Given the description of an element on the screen output the (x, y) to click on. 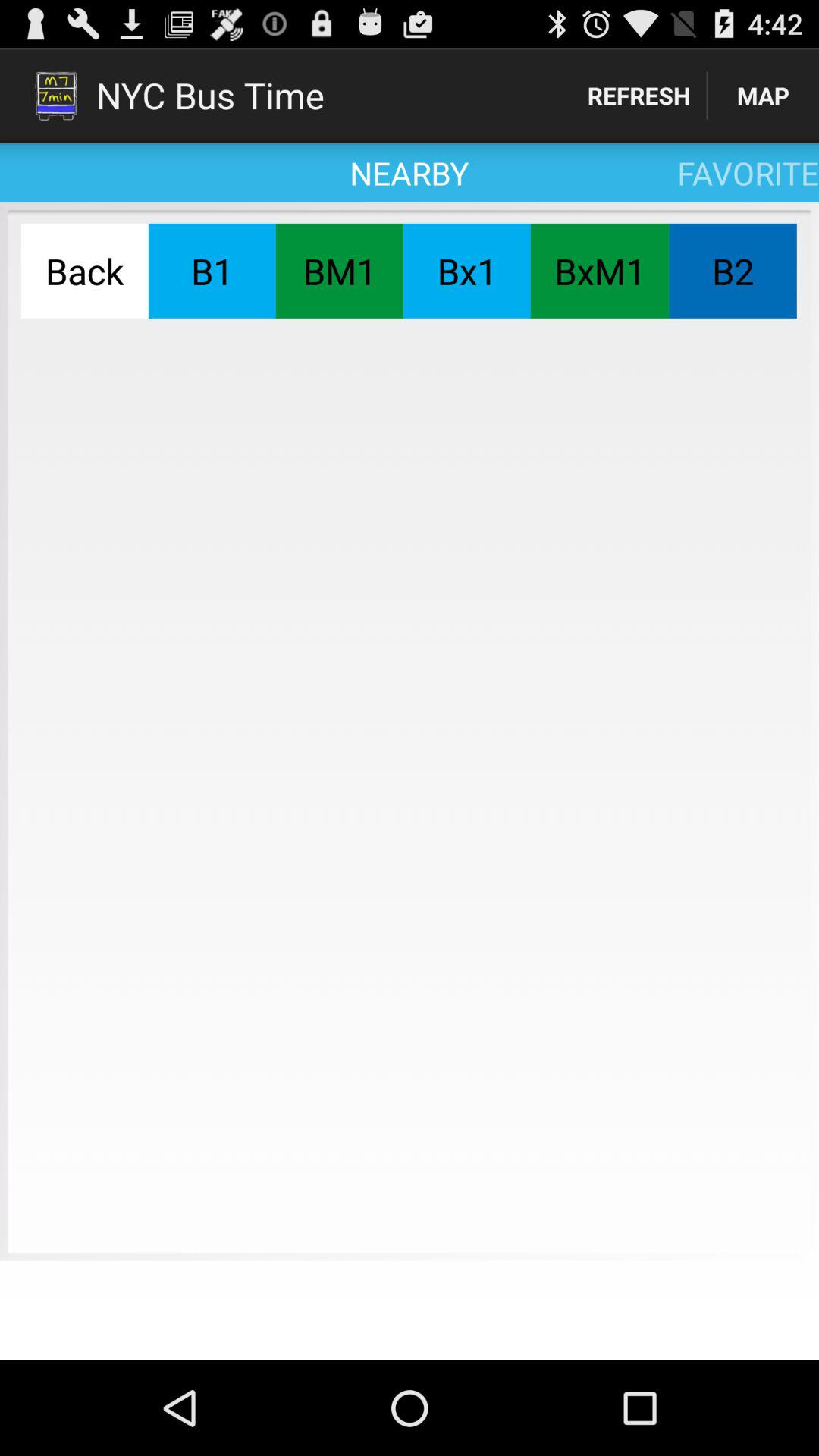
turn on b2 icon (732, 271)
